Given the description of an element on the screen output the (x, y) to click on. 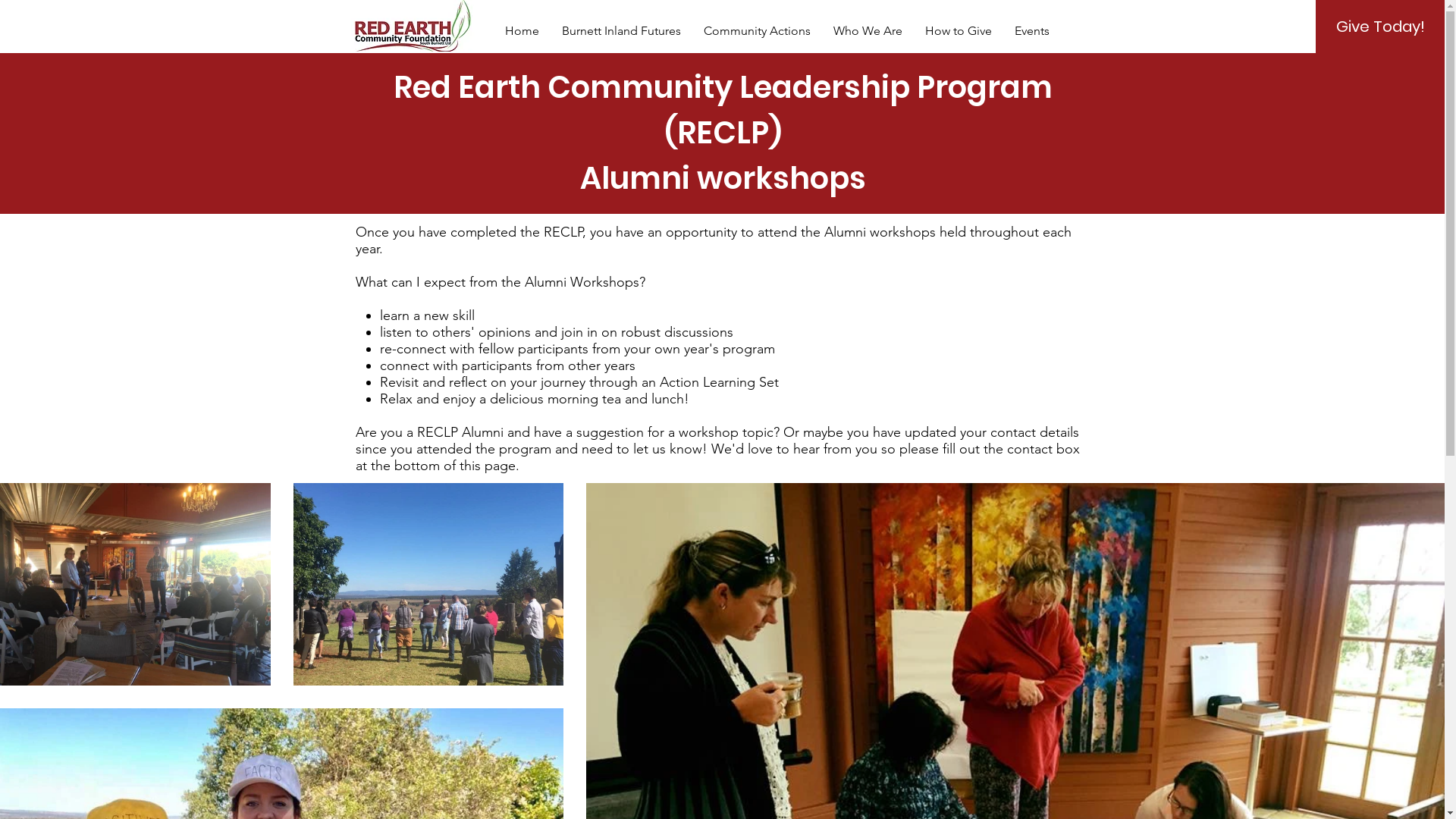
Give Today! Element type: text (1379, 26)
Events Element type: text (1031, 30)
How to Give Element type: text (957, 30)
Burnett Inland Futures Element type: text (621, 30)
Home Element type: text (520, 30)
